Given the description of an element on the screen output the (x, y) to click on. 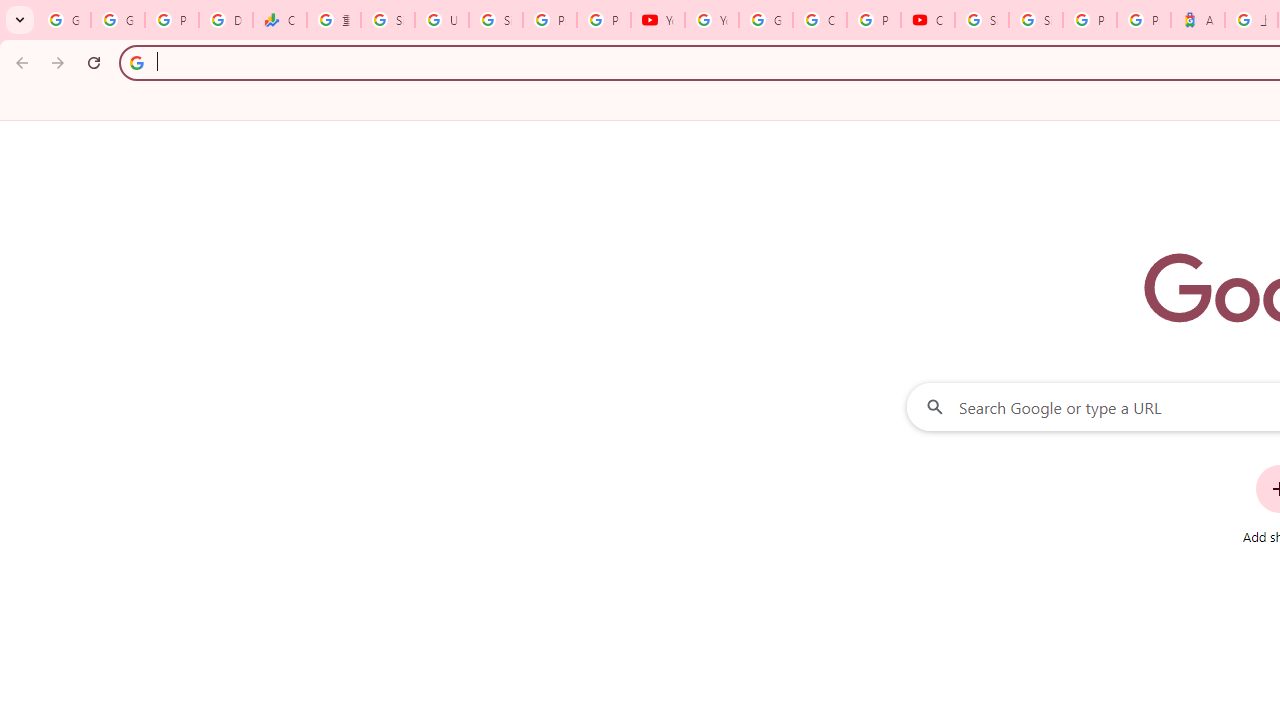
Sign in - Google Accounts (1035, 20)
Content Creator Programs & Opportunities - YouTube Creators (927, 20)
YouTube (657, 20)
